Given the description of an element on the screen output the (x, y) to click on. 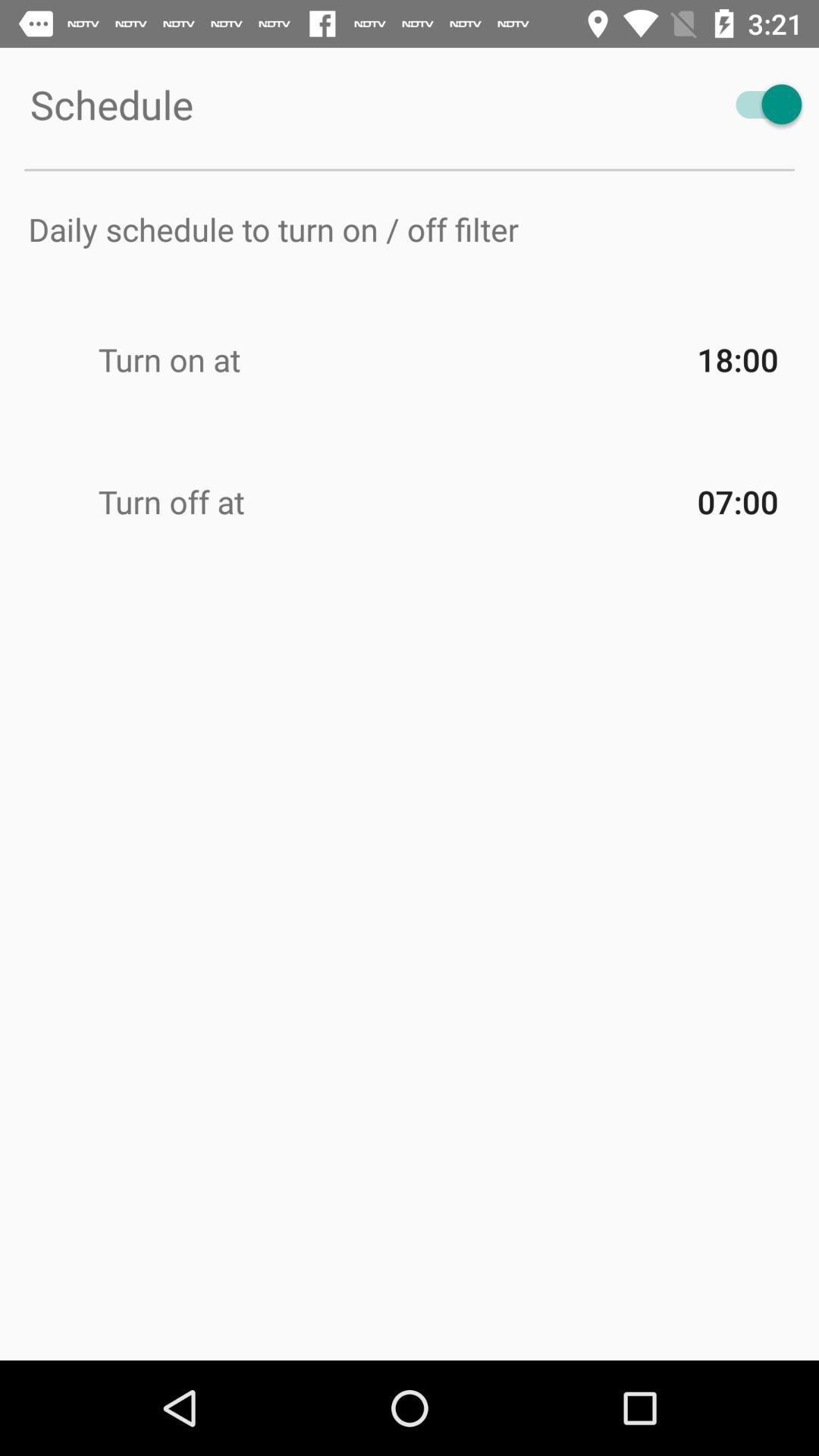
turn schedule on/off (761, 104)
